Given the description of an element on the screen output the (x, y) to click on. 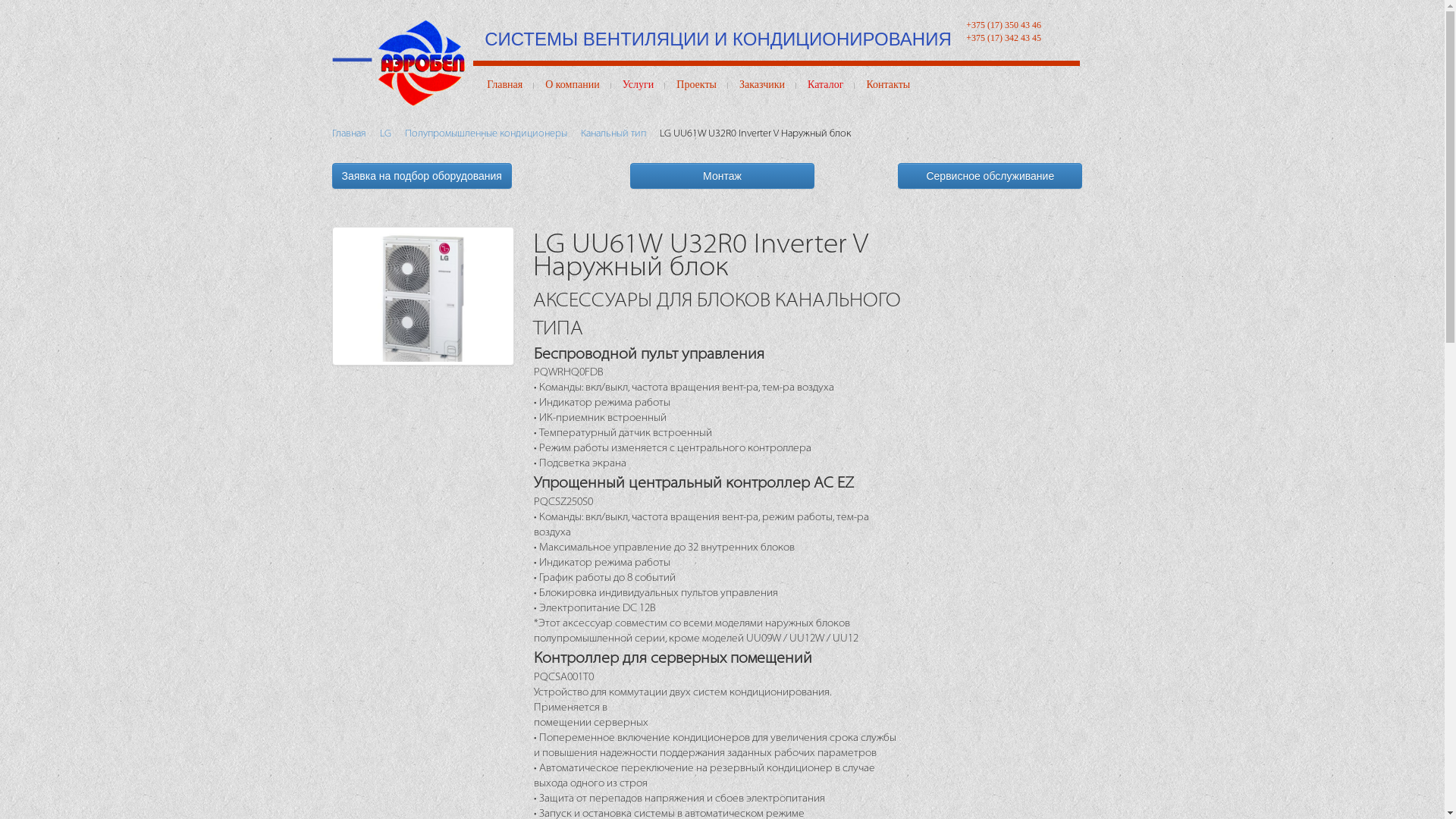
LG Element type: text (384, 133)
